Given the description of an element on the screen output the (x, y) to click on. 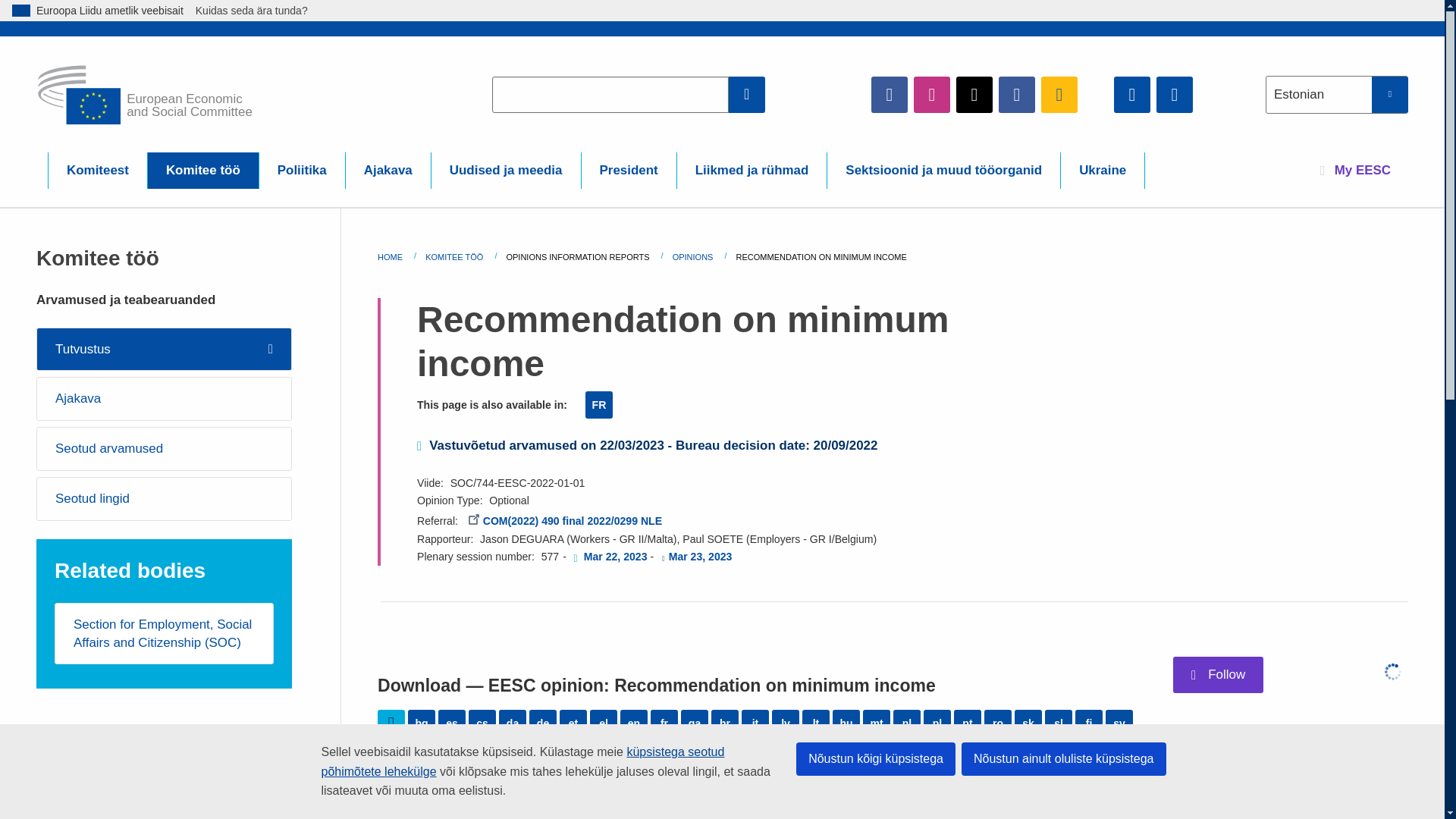
My EESC (1355, 170)
Search EESC Website (747, 94)
